Given the description of an element on the screen output the (x, y) to click on. 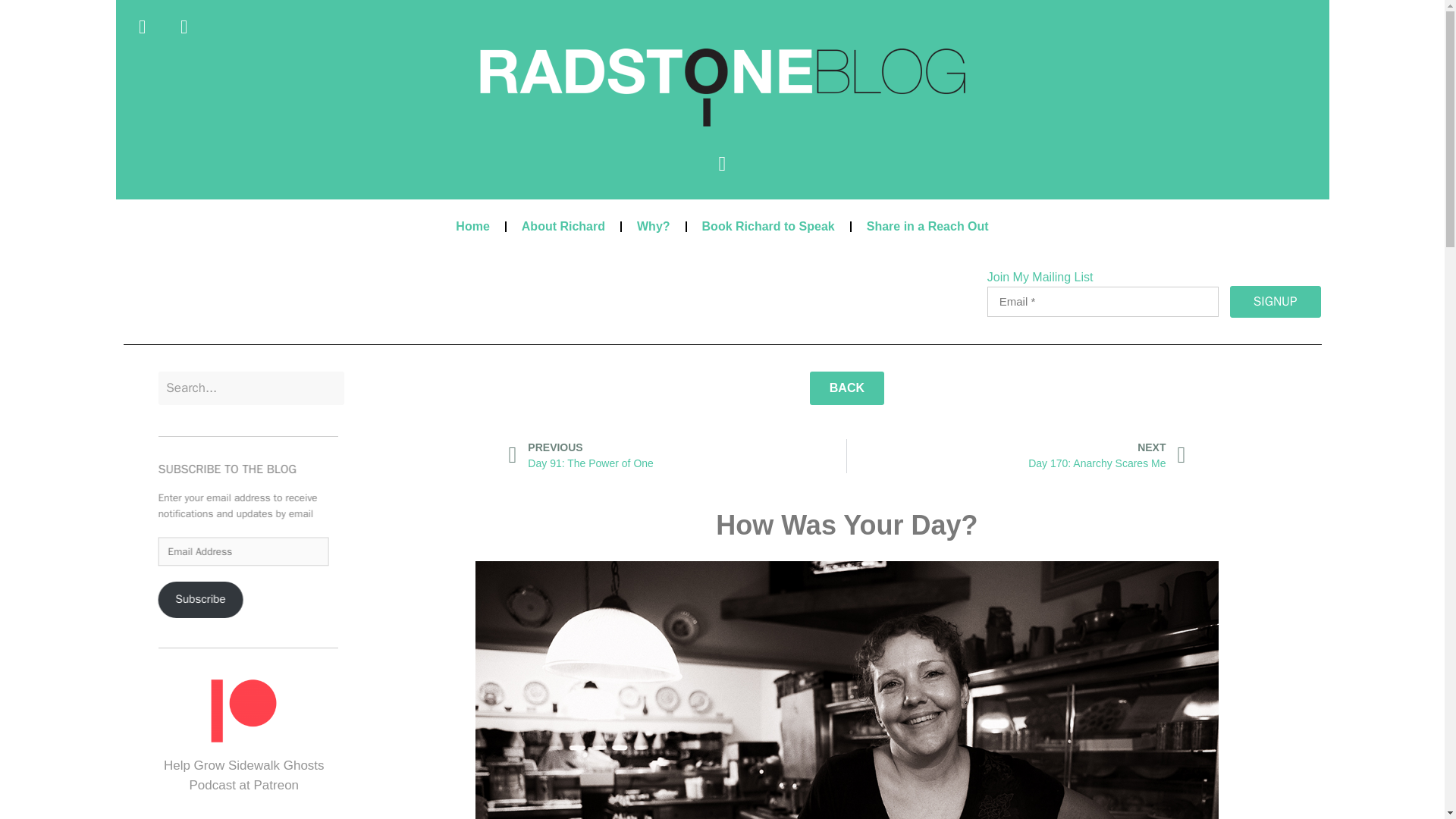
Why? (653, 226)
SIGNUP (1275, 301)
RadstoneBlog005 (1016, 455)
Share in a Reach Out (721, 87)
Subscribe (927, 226)
BACK (211, 603)
About Richard (846, 387)
Book Richard to Speak (563, 226)
